Given the description of an element on the screen output the (x, y) to click on. 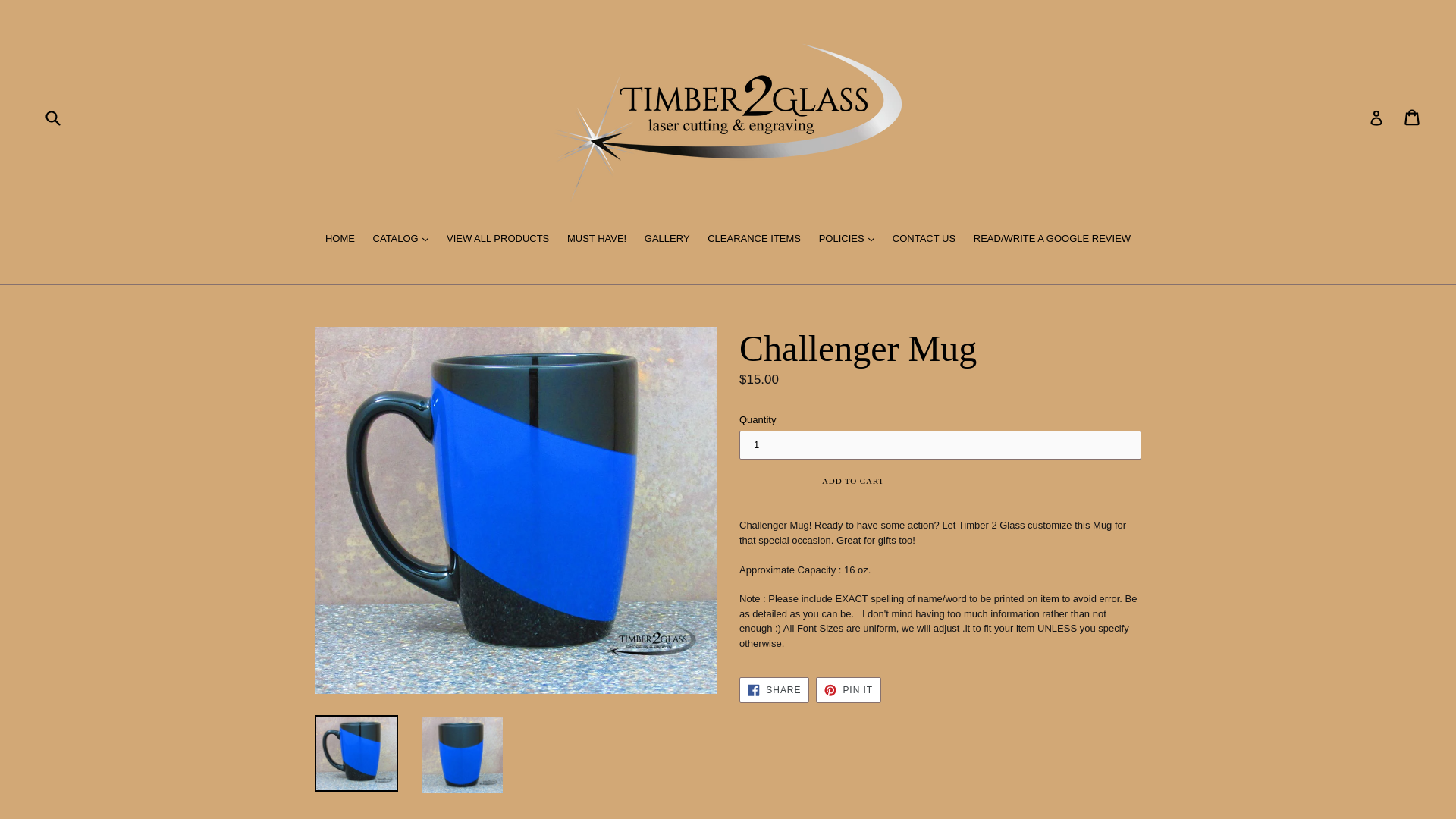
1 (940, 444)
Pin on Pinterest (847, 689)
Share on Facebook (774, 689)
